Given the description of an element on the screen output the (x, y) to click on. 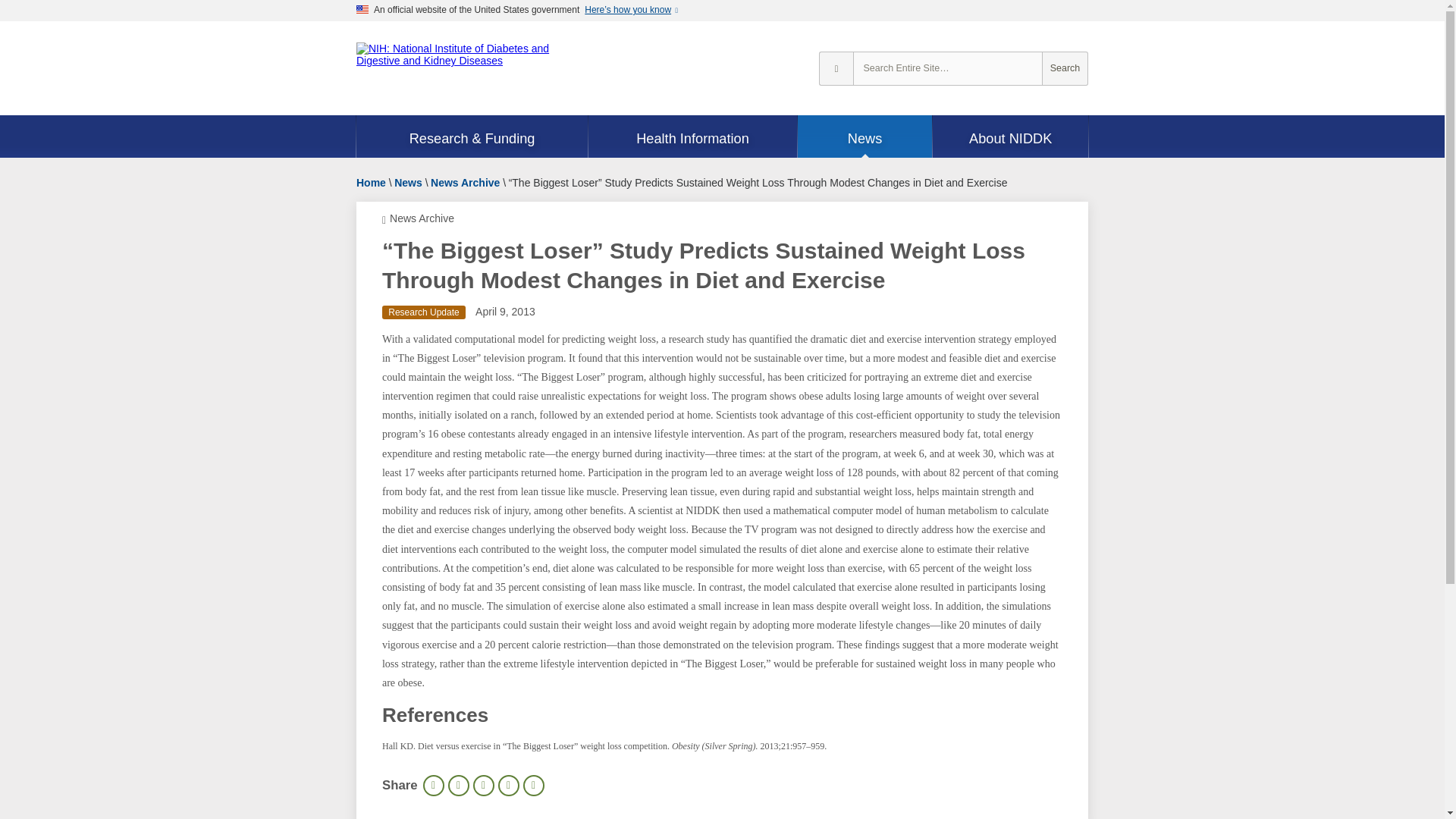
Change search scope (835, 68)
News (865, 137)
Health Information (692, 137)
Email this page (508, 785)
Share this page on Facebook (458, 785)
Post this page on X (484, 785)
Print this page (433, 785)
Search Entire Site (1064, 68)
Search (1064, 68)
More sharing options (533, 785)
